Given the description of an element on the screen output the (x, y) to click on. 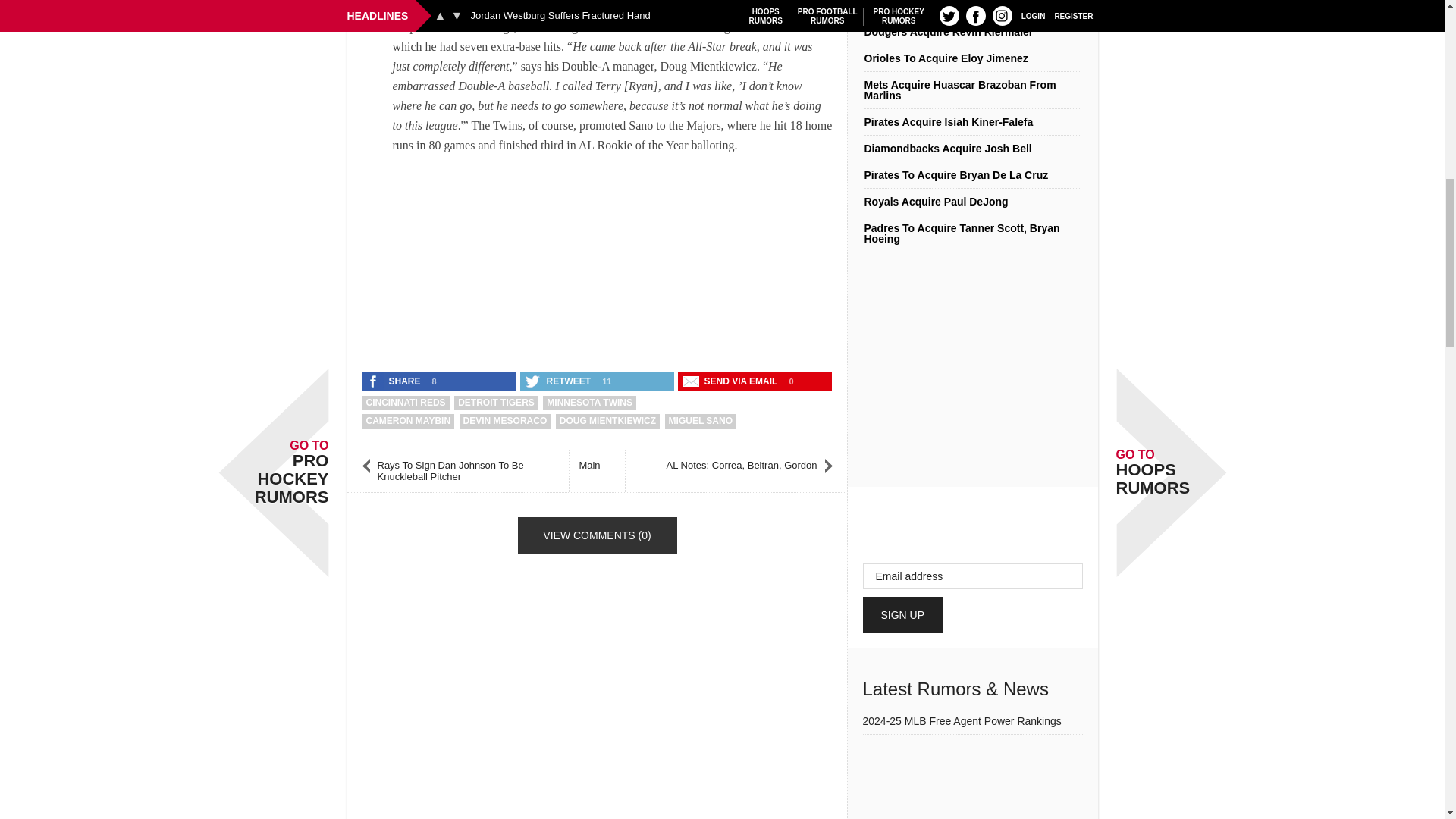
Retweet 'Central Notes: Mesoraco, Maybin, Sano' on Twitter (558, 381)
Share 'Central Notes: Mesoraco, Maybin, Sano' on Facebook (395, 381)
Send Central Notes: Mesoraco, Maybin, Sano with an email (732, 381)
Sign Up (903, 615)
